Given the description of an element on the screen output the (x, y) to click on. 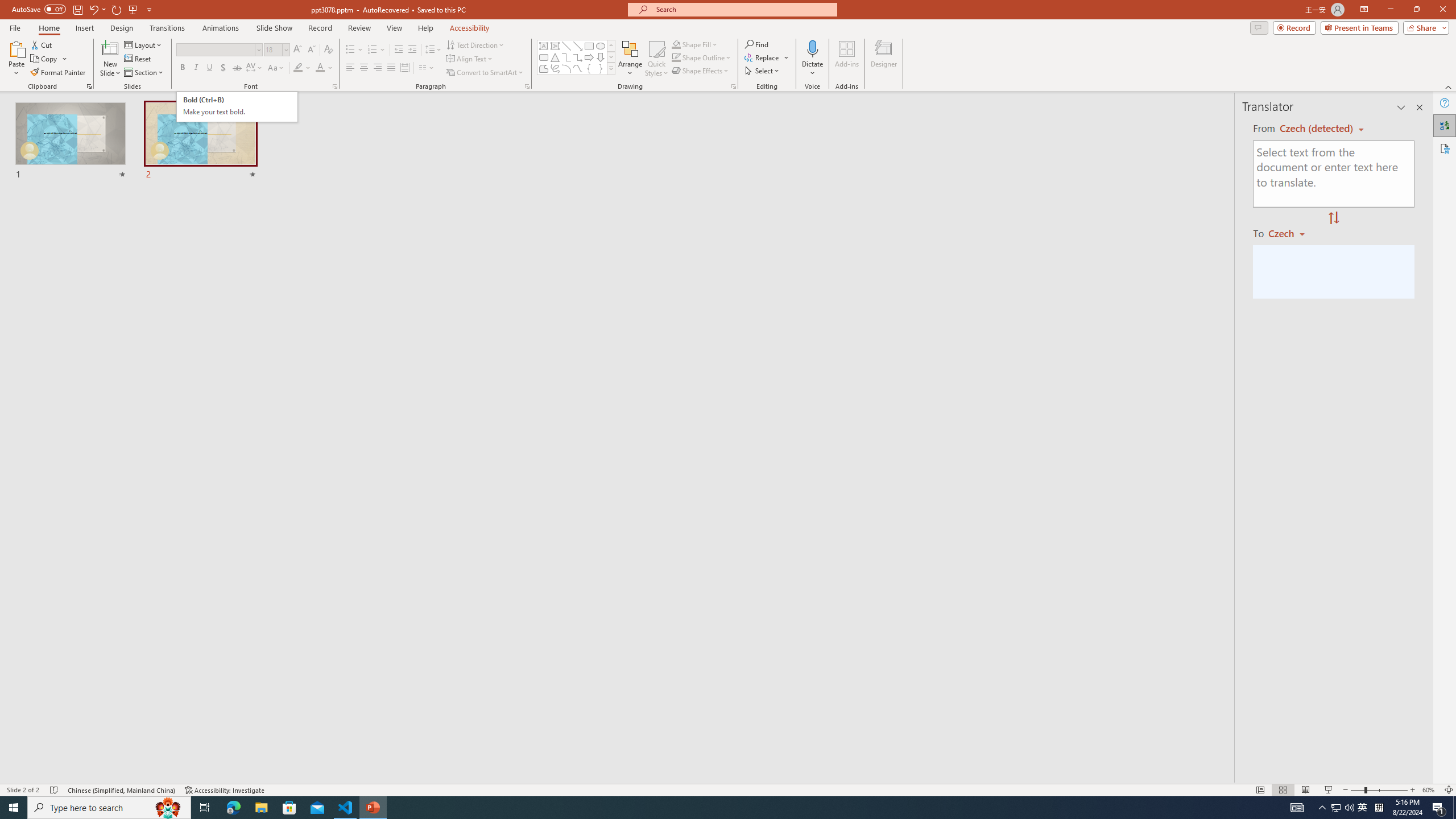
Shape Effects (700, 69)
Text Highlight Color Yellow (297, 67)
Line Arrow (577, 45)
Distributed (404, 67)
